Given the description of an element on the screen output the (x, y) to click on. 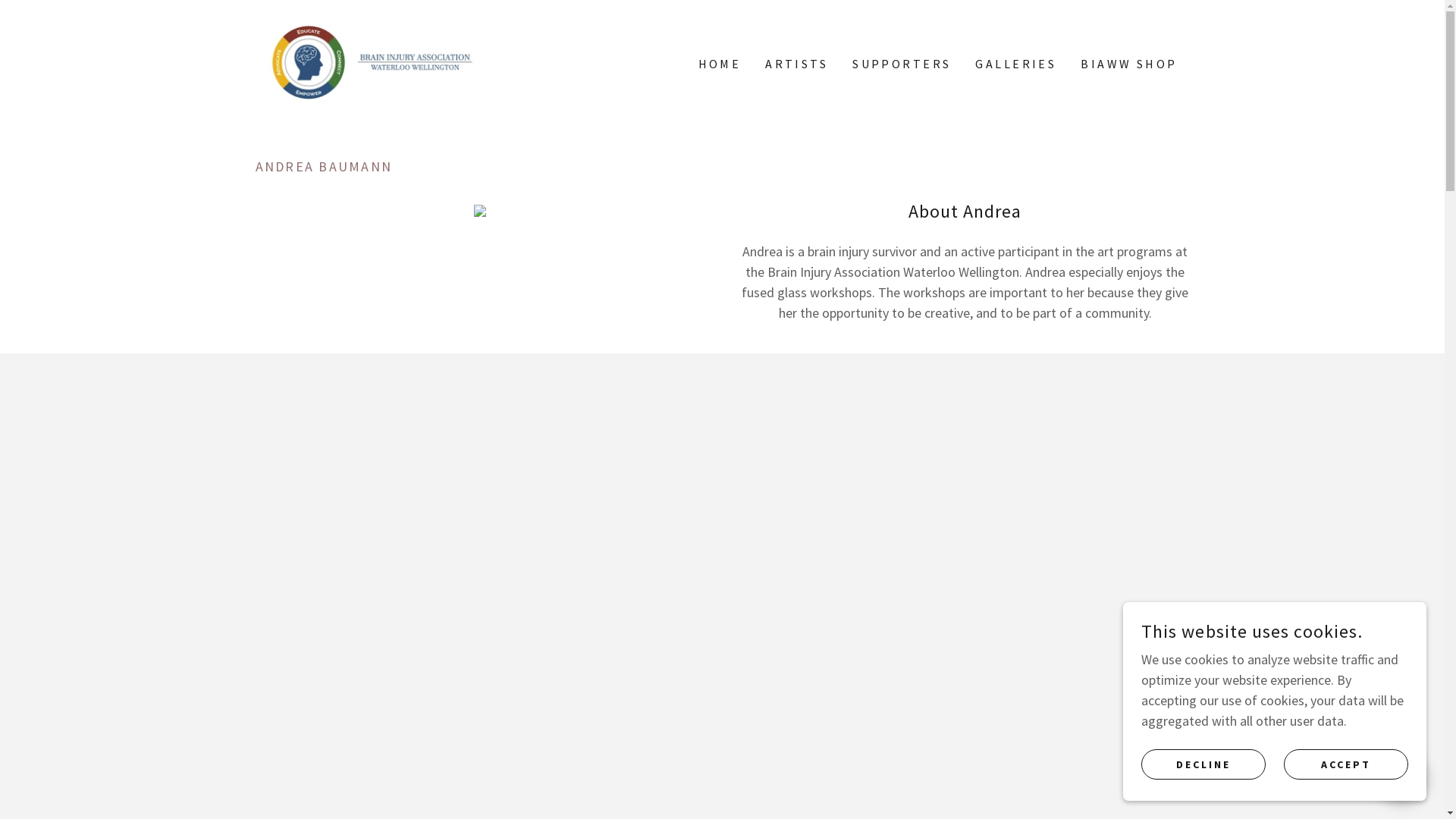
BIAWW SHOP Element type: text (1128, 63)
DECLINE Element type: text (1203, 764)
BIAWW Brain Art Element type: hover (371, 61)
ARTISTS Element type: text (796, 63)
HOME Element type: text (719, 63)
GALLERIES Element type: text (1015, 63)
SUPPORTERS Element type: text (901, 63)
ACCEPT Element type: text (1345, 764)
